Given the description of an element on the screen output the (x, y) to click on. 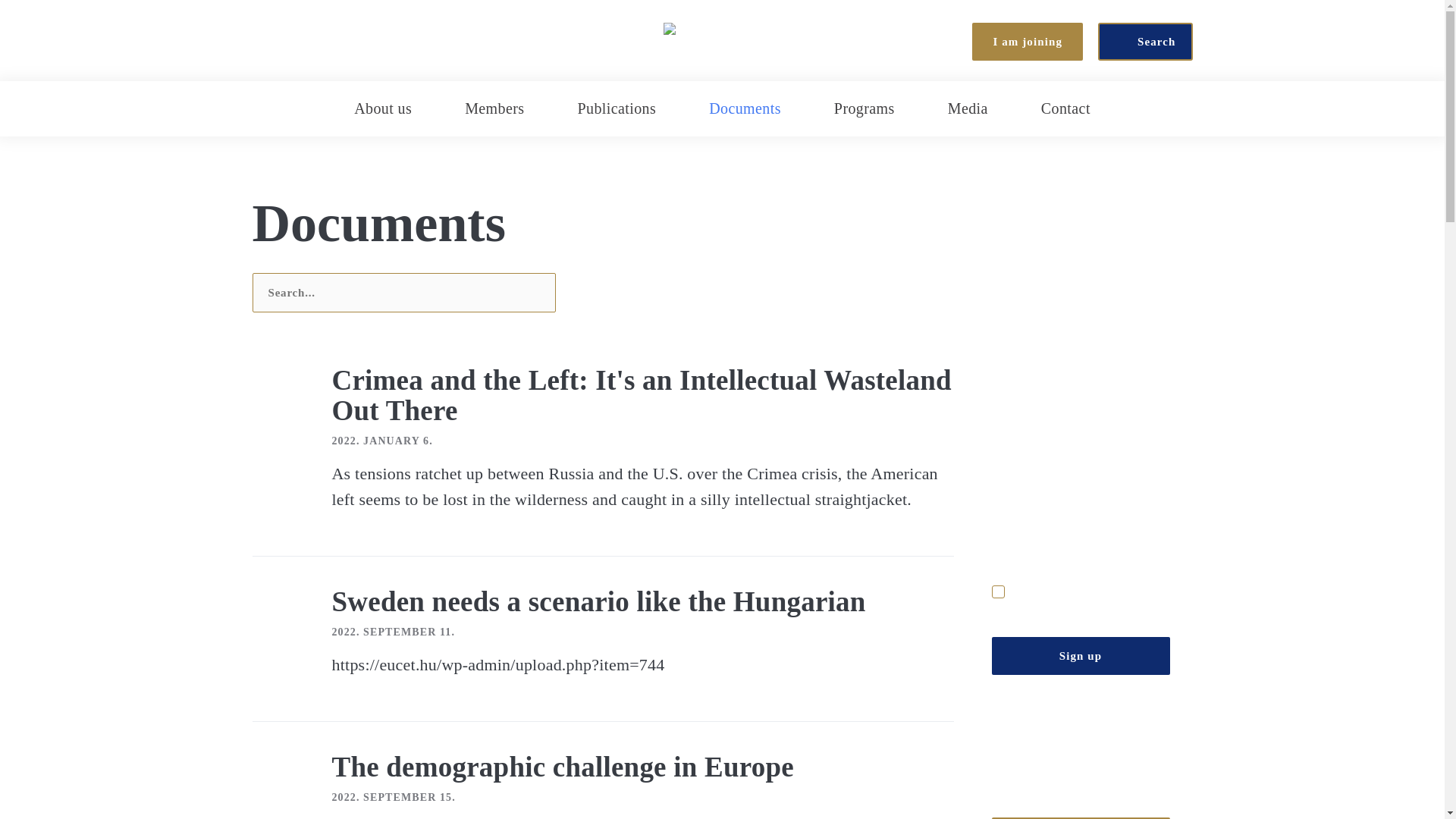
Programs (864, 108)
Search (1144, 41)
1 (997, 591)
The demographic challenge in Europe (562, 766)
I am joining (1027, 41)
eucet.hu (721, 41)
Sign up (1080, 655)
Sign up (1080, 655)
Publications (616, 108)
